Given the description of an element on the screen output the (x, y) to click on. 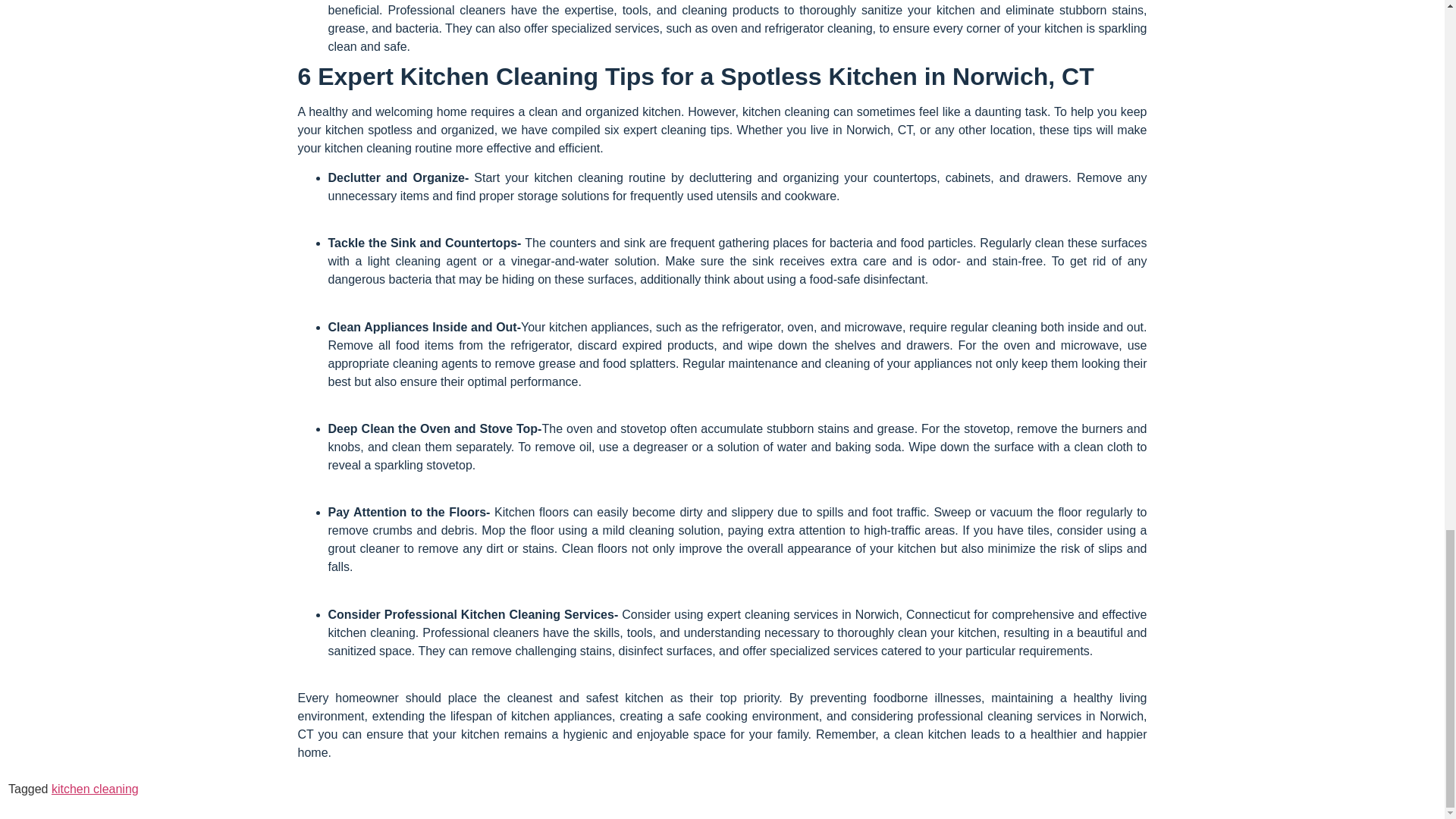
kitchen cleaning (94, 788)
